Given the description of an element on the screen output the (x, y) to click on. 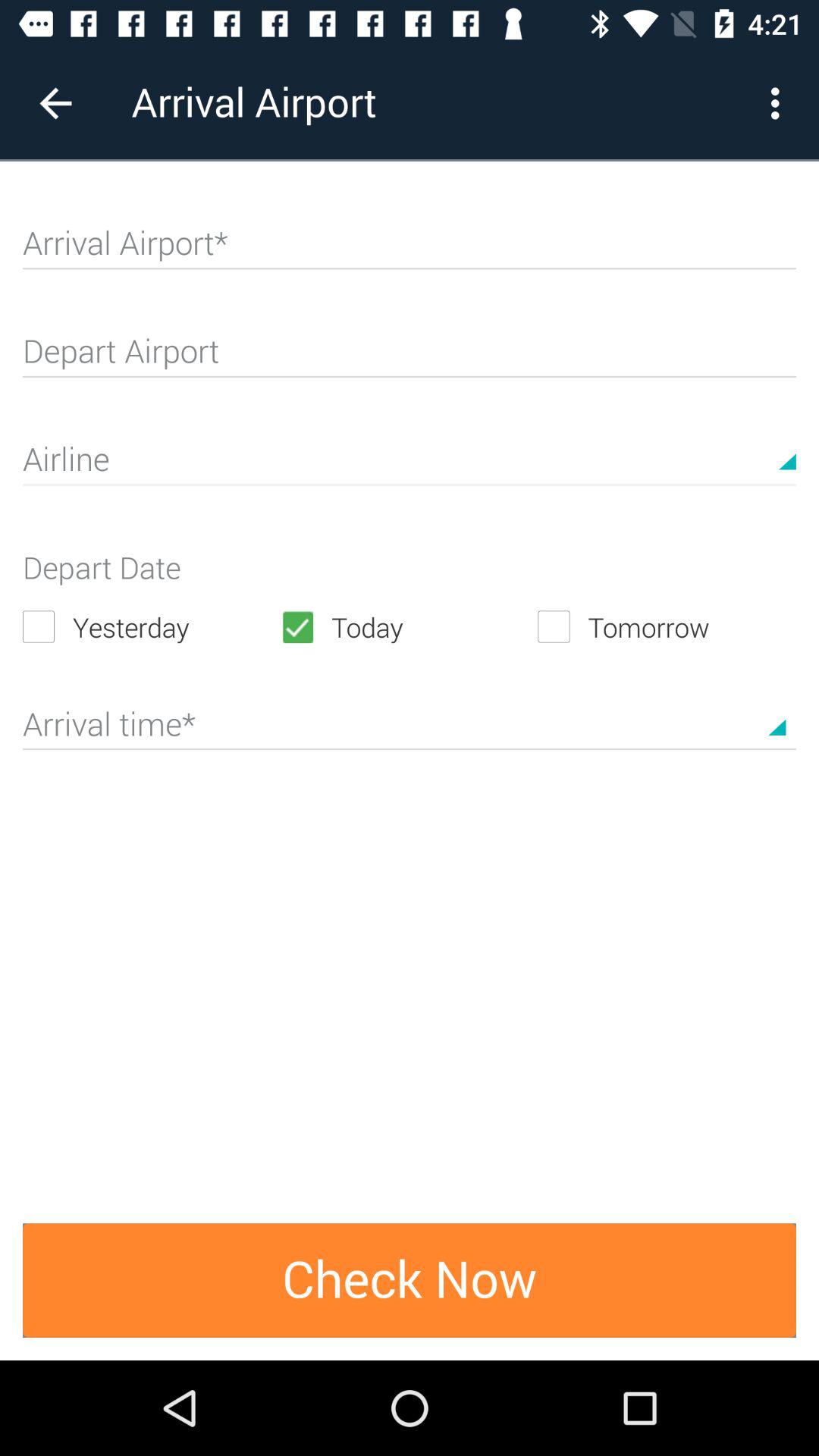
choose airline (409, 465)
